Given the description of an element on the screen output the (x, y) to click on. 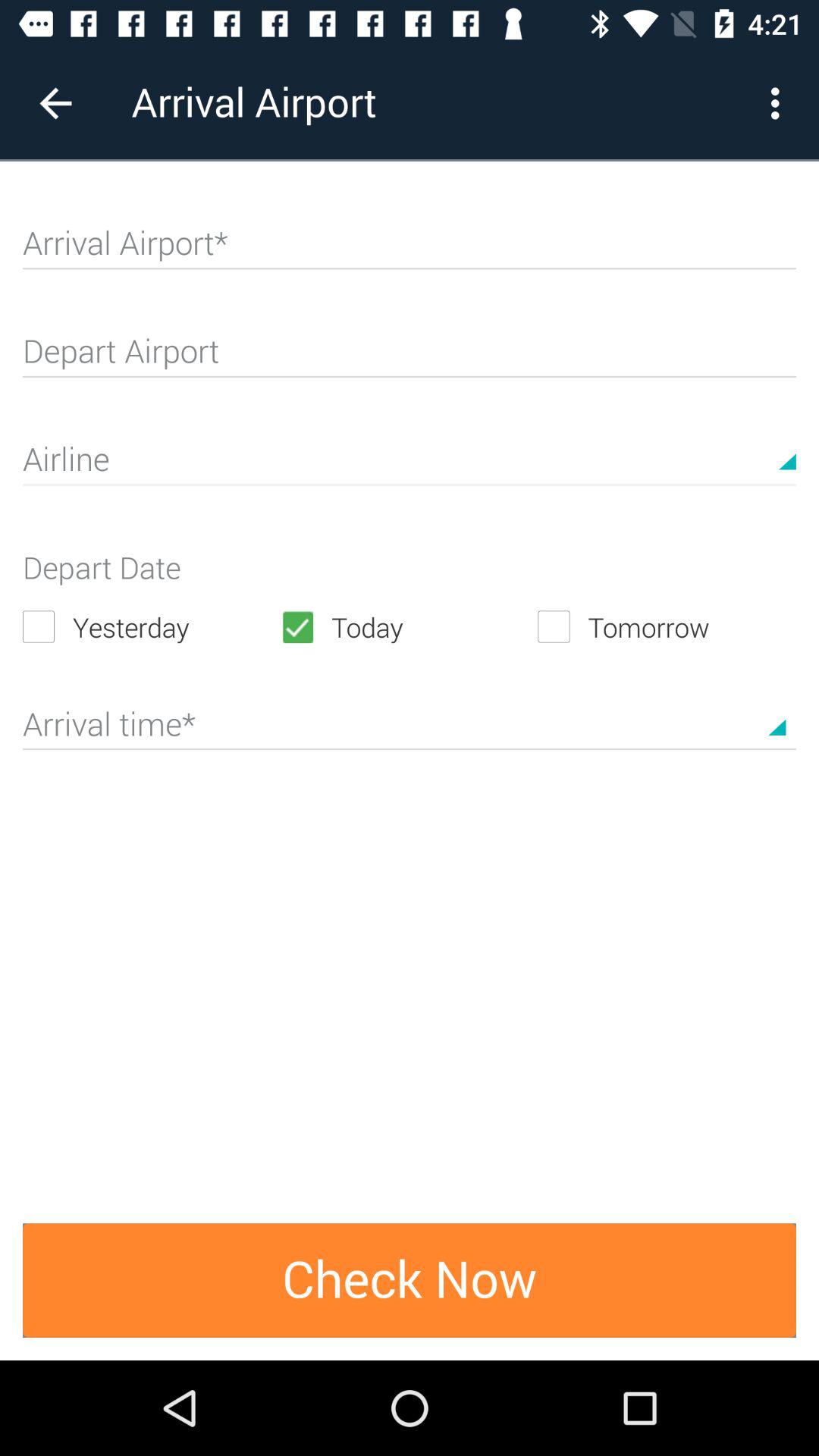
choose airline (409, 465)
